Given the description of an element on the screen output the (x, y) to click on. 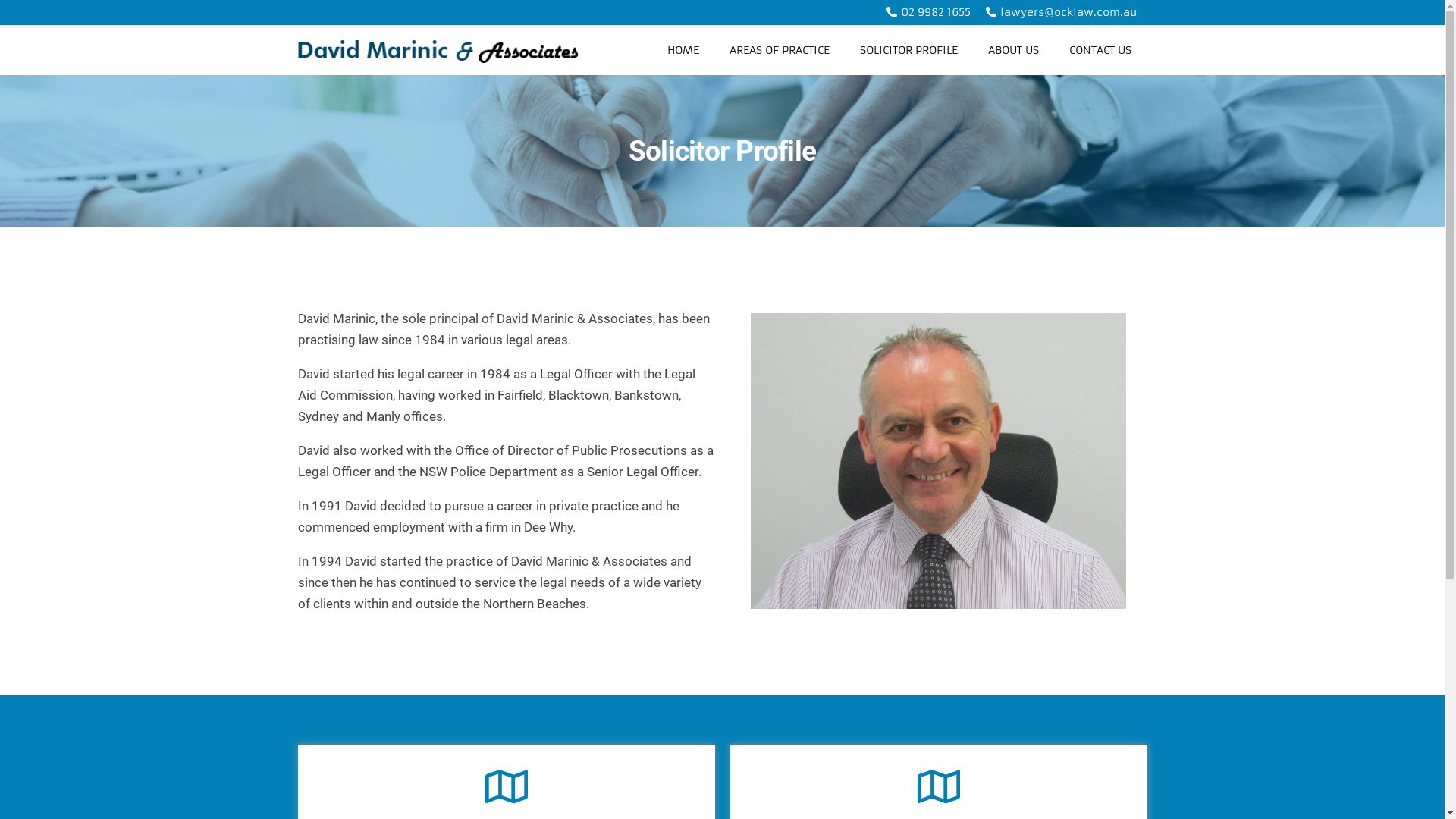
HOME Element type: text (683, 49)
ABOUT US Element type: text (1013, 49)
AREAS OF PRACTICE Element type: text (779, 49)
SOLICITOR PROFILE Element type: text (908, 49)
02 9982 1655 Element type: text (927, 12)
CONTACT US Element type: text (1100, 49)
lawyers@ocklaw.com.au Element type: text (1059, 12)
